Given the description of an element on the screen output the (x, y) to click on. 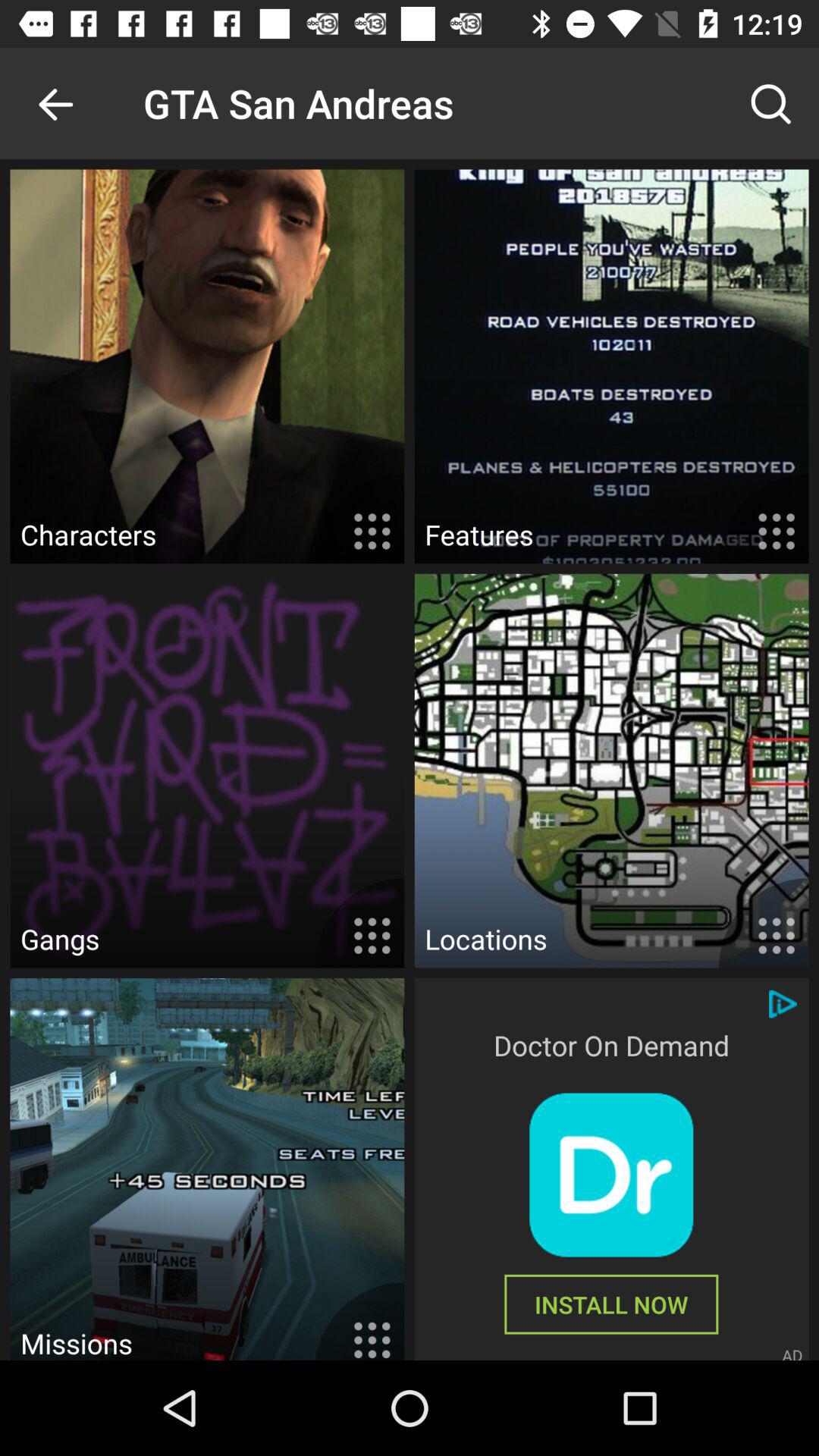
turn off the item to the right of gta san andreas icon (771, 103)
